Given the description of an element on the screen output the (x, y) to click on. 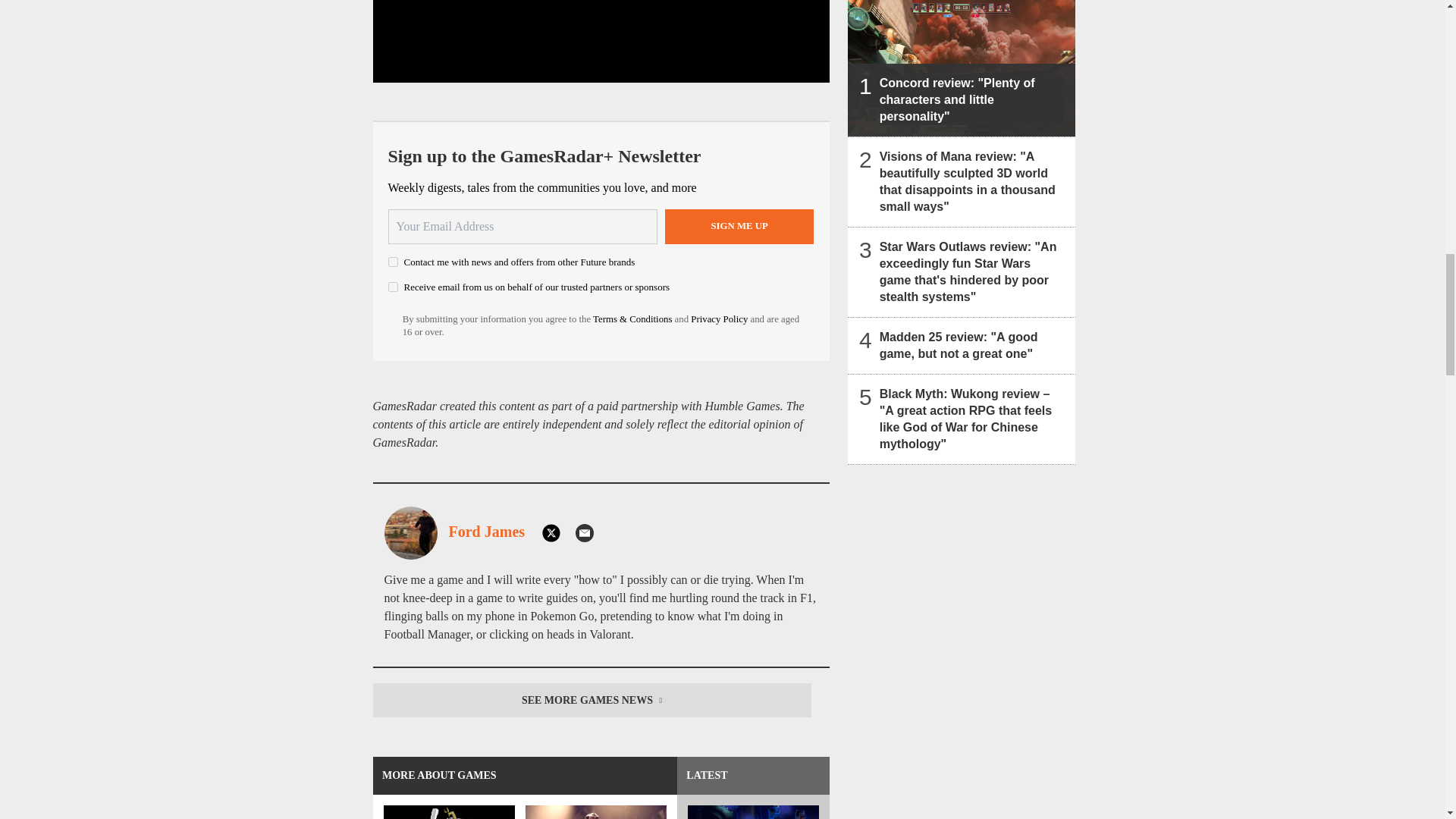
Sign me up (739, 226)
on (392, 286)
on (392, 261)
